Given the description of an element on the screen output the (x, y) to click on. 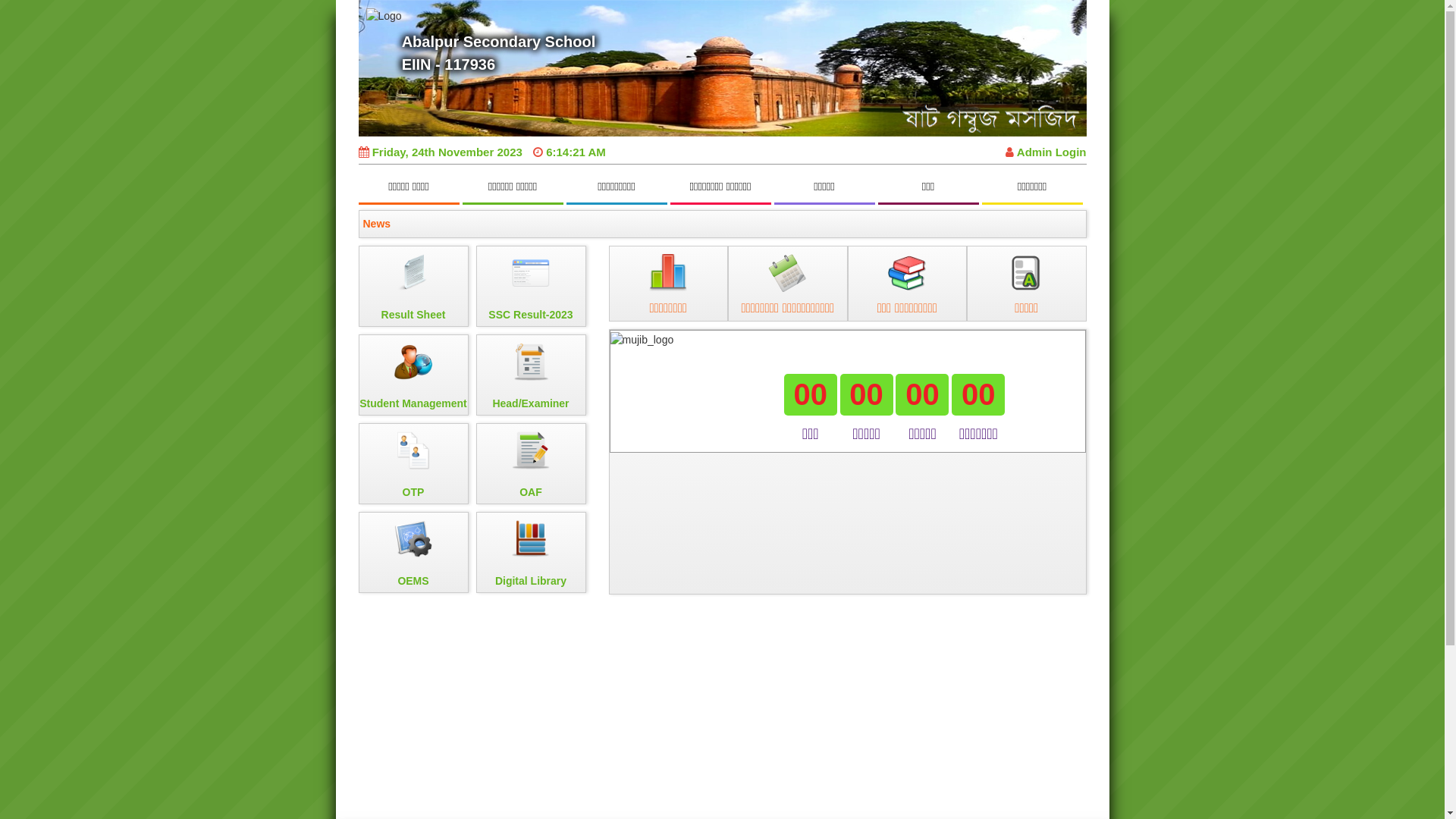
Student Management Element type: text (412, 374)
Result Sheet Element type: text (412, 285)
OAF Element type: text (531, 463)
Head/Examiner Element type: text (531, 374)
OTP Element type: text (412, 463)
OEMS Element type: text (412, 552)
Admin Login Element type: text (1045, 151)
SSC Result-2023 Element type: text (531, 285)
Digital Library Element type: text (531, 552)
